Given the description of an element on the screen output the (x, y) to click on. 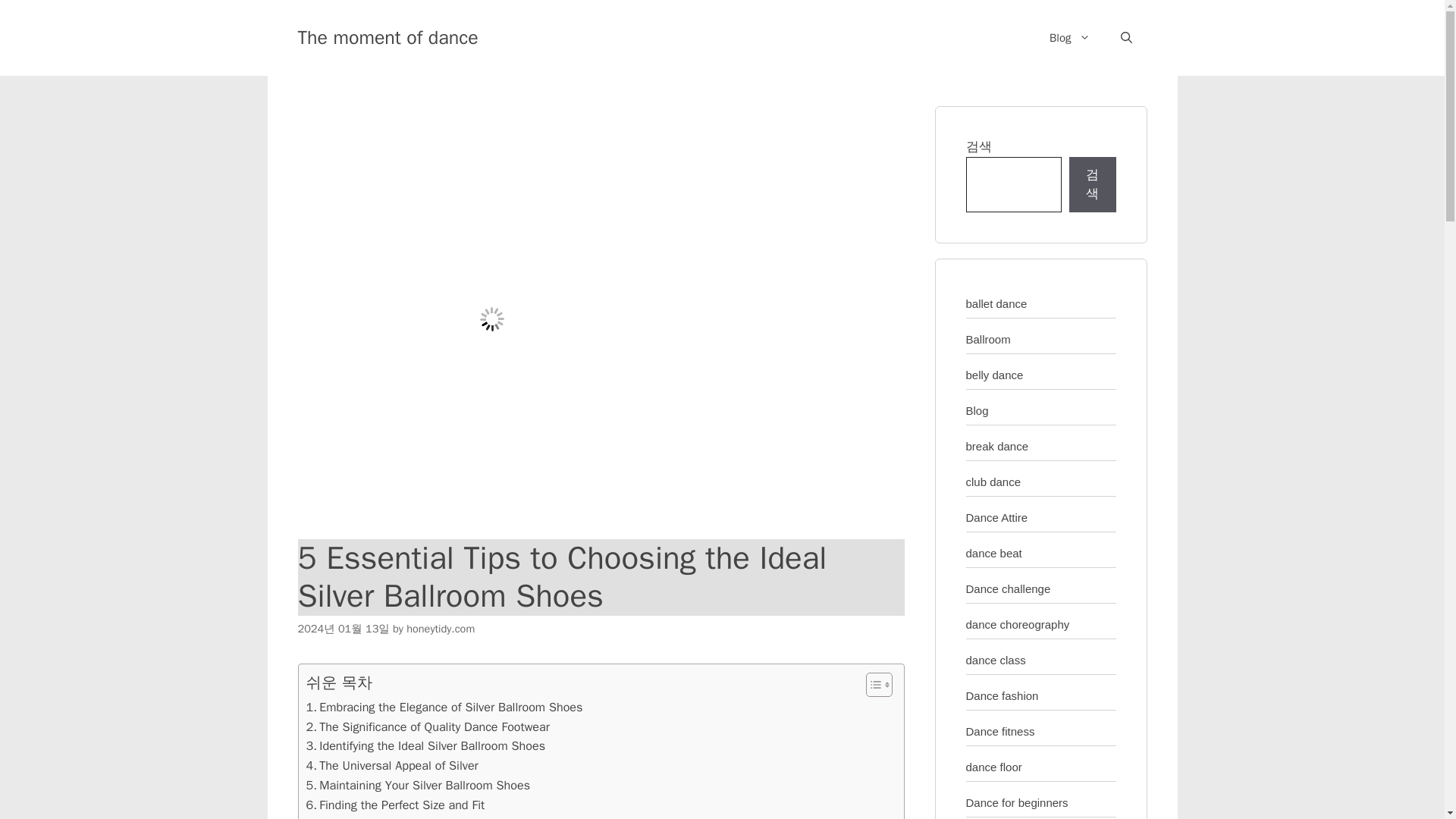
Ballroom (988, 338)
The Impact of Silver Ballroom Shoes in Dance Competitions (472, 816)
club dance (994, 481)
The Significance of Quality Dance Footwear (427, 727)
The Universal Appeal of Silver (392, 765)
Identifying the Ideal Silver Ballroom Shoes (425, 745)
Identifying the Ideal Silver Ballroom Shoes (425, 745)
belly dance (994, 374)
Maintaining Your Silver Ballroom Shoes (418, 785)
honeytidy.com (440, 628)
ballet dance (996, 303)
Maintaining Your Silver Ballroom Shoes (418, 785)
Blog (1069, 37)
The Universal Appeal of Silver (392, 765)
Finding the Perfect Size and Fit (394, 804)
